Given the description of an element on the screen output the (x, y) to click on. 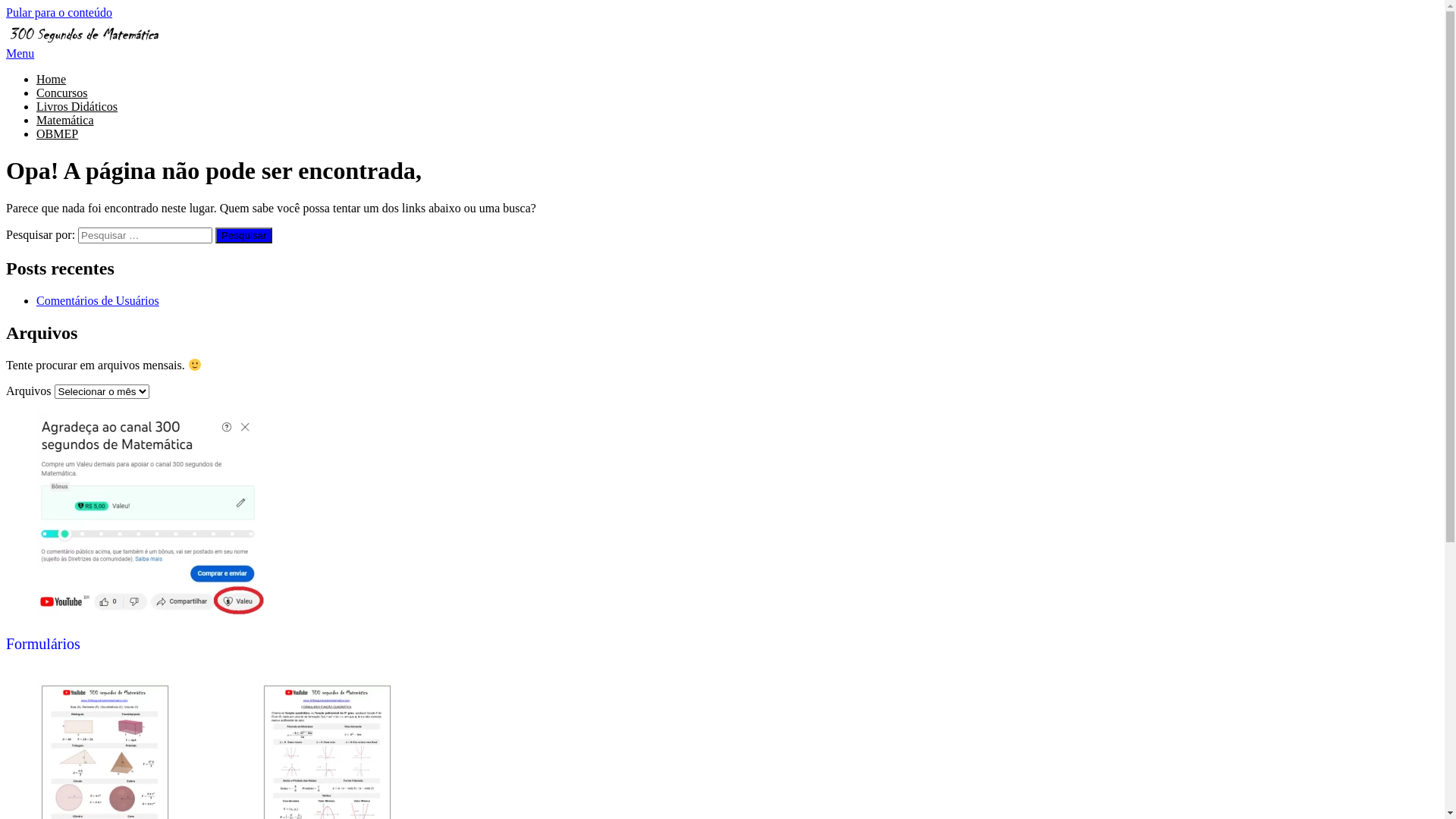
Pesquisar Element type: text (243, 235)
Concursos Element type: text (61, 92)
OBMEP Element type: text (57, 133)
Menu Element type: text (20, 53)
Home Element type: text (50, 78)
